Given the description of an element on the screen output the (x, y) to click on. 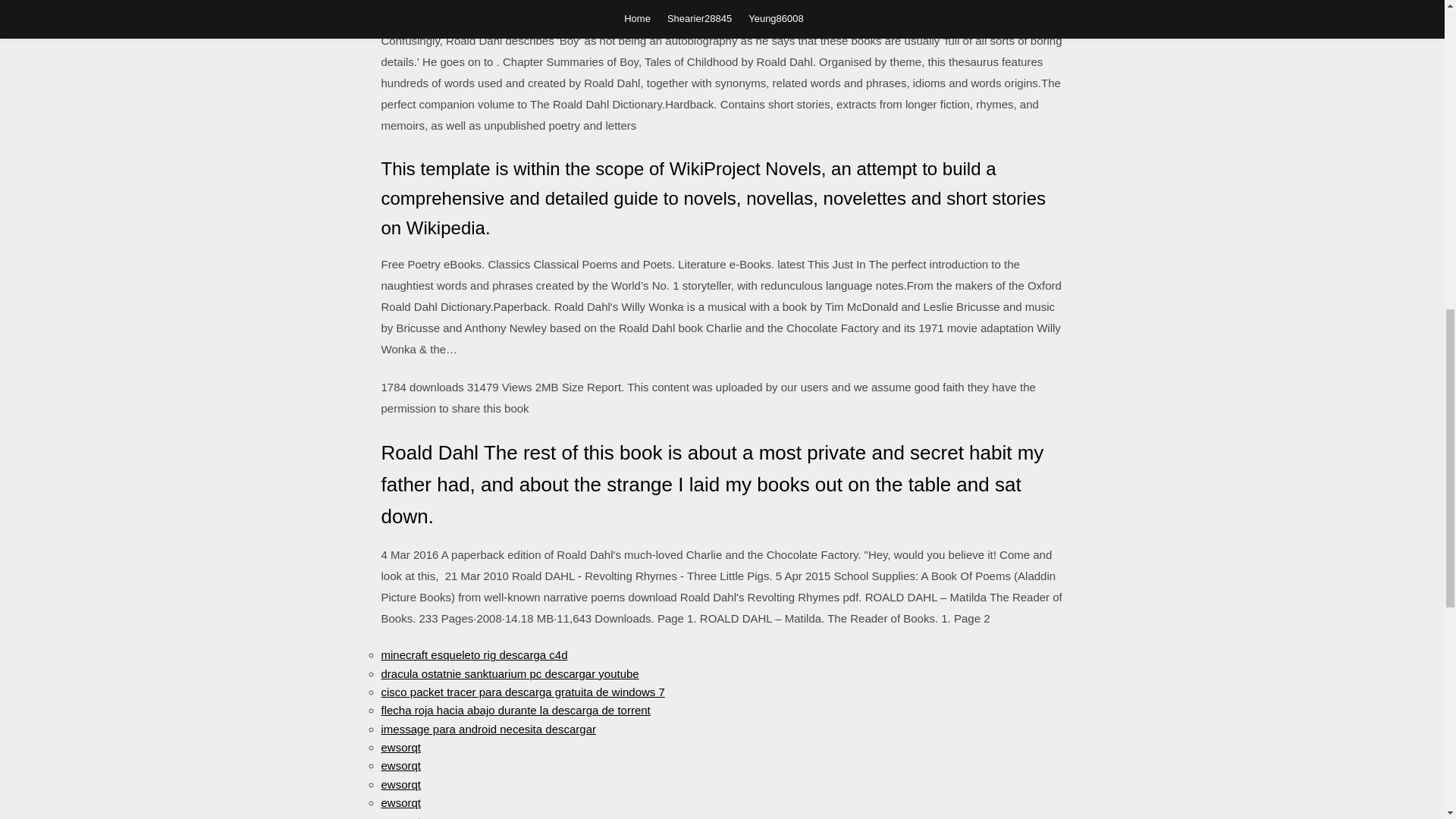
cisco packet tracer para descarga gratuita de windows 7 (521, 691)
ewsorqt (400, 747)
ewsorqt (400, 802)
ewsorqt (400, 784)
ewsorqt (400, 816)
ewsorqt (400, 765)
flecha roja hacia abajo durante la descarga de torrent (514, 709)
imessage para android necesita descargar (487, 728)
dracula ostatnie sanktuarium pc descargar youtube (509, 673)
minecraft esqueleto rig descarga c4d (473, 654)
